Given the description of an element on the screen output the (x, y) to click on. 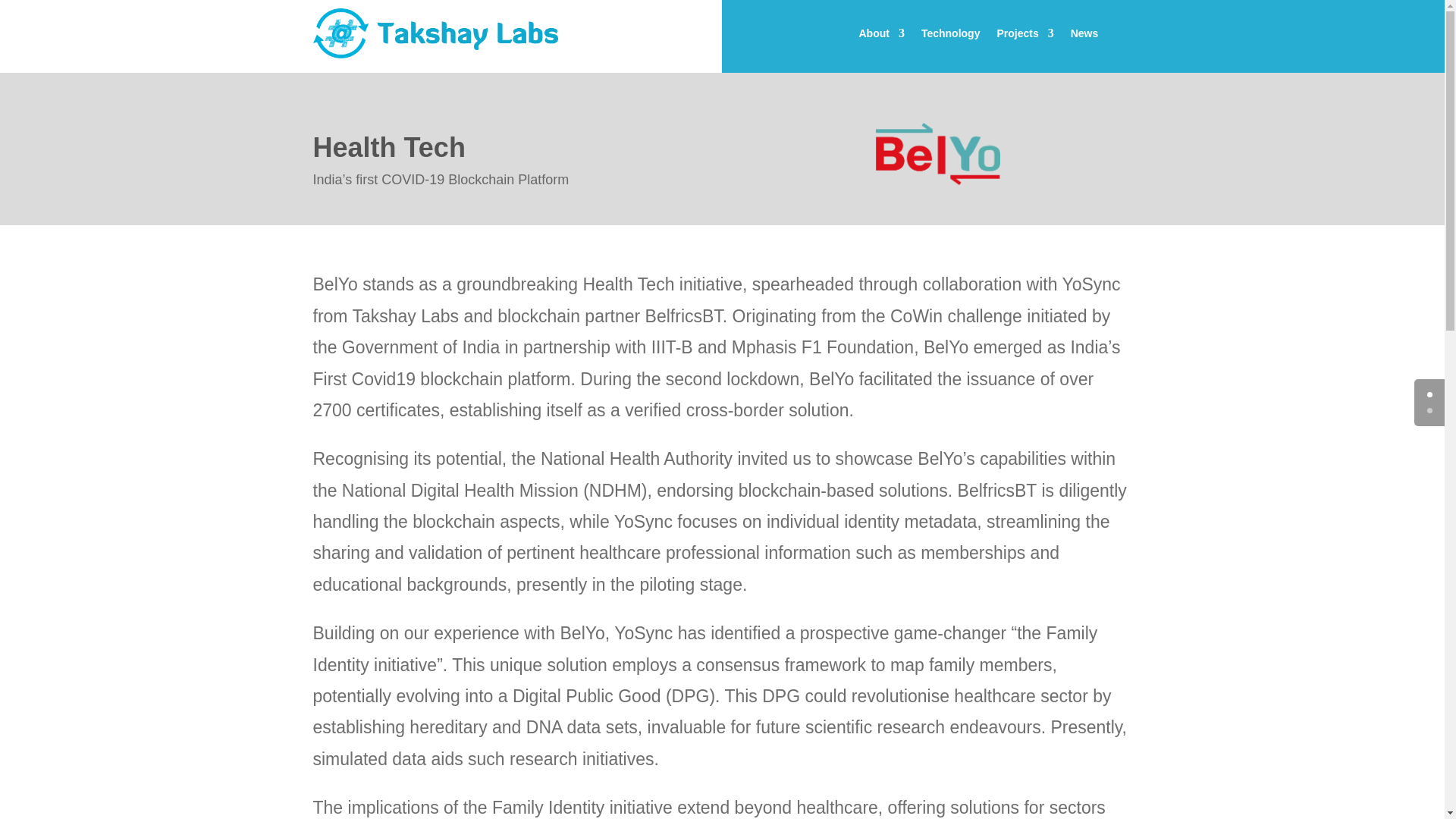
Takshay Logo (435, 33)
Bel Yo logo (938, 153)
News (1084, 36)
Technology (950, 36)
About (881, 36)
Projects (1023, 36)
